Given the description of an element on the screen output the (x, y) to click on. 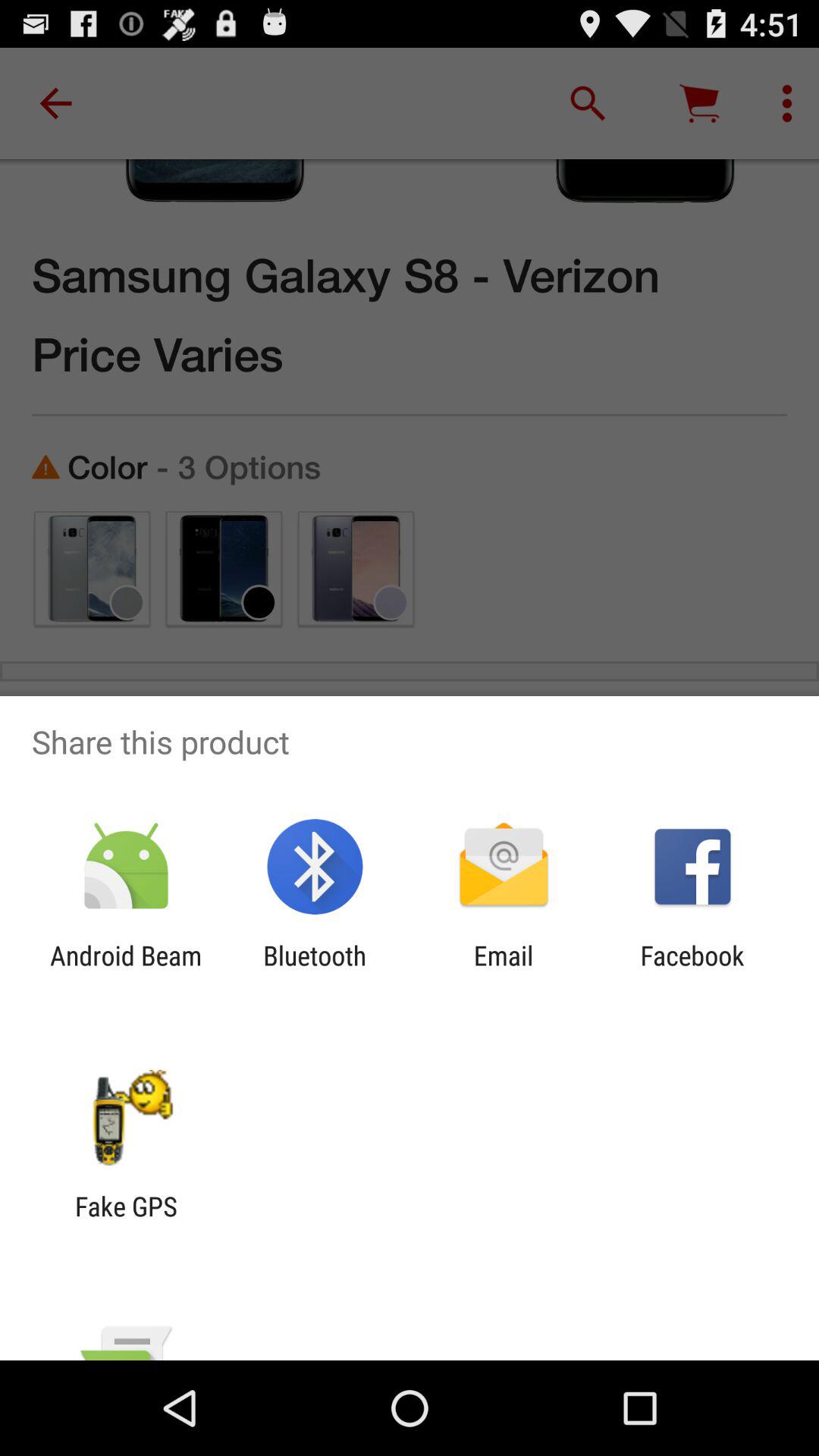
launch the item at the bottom right corner (692, 971)
